Given the description of an element on the screen output the (x, y) to click on. 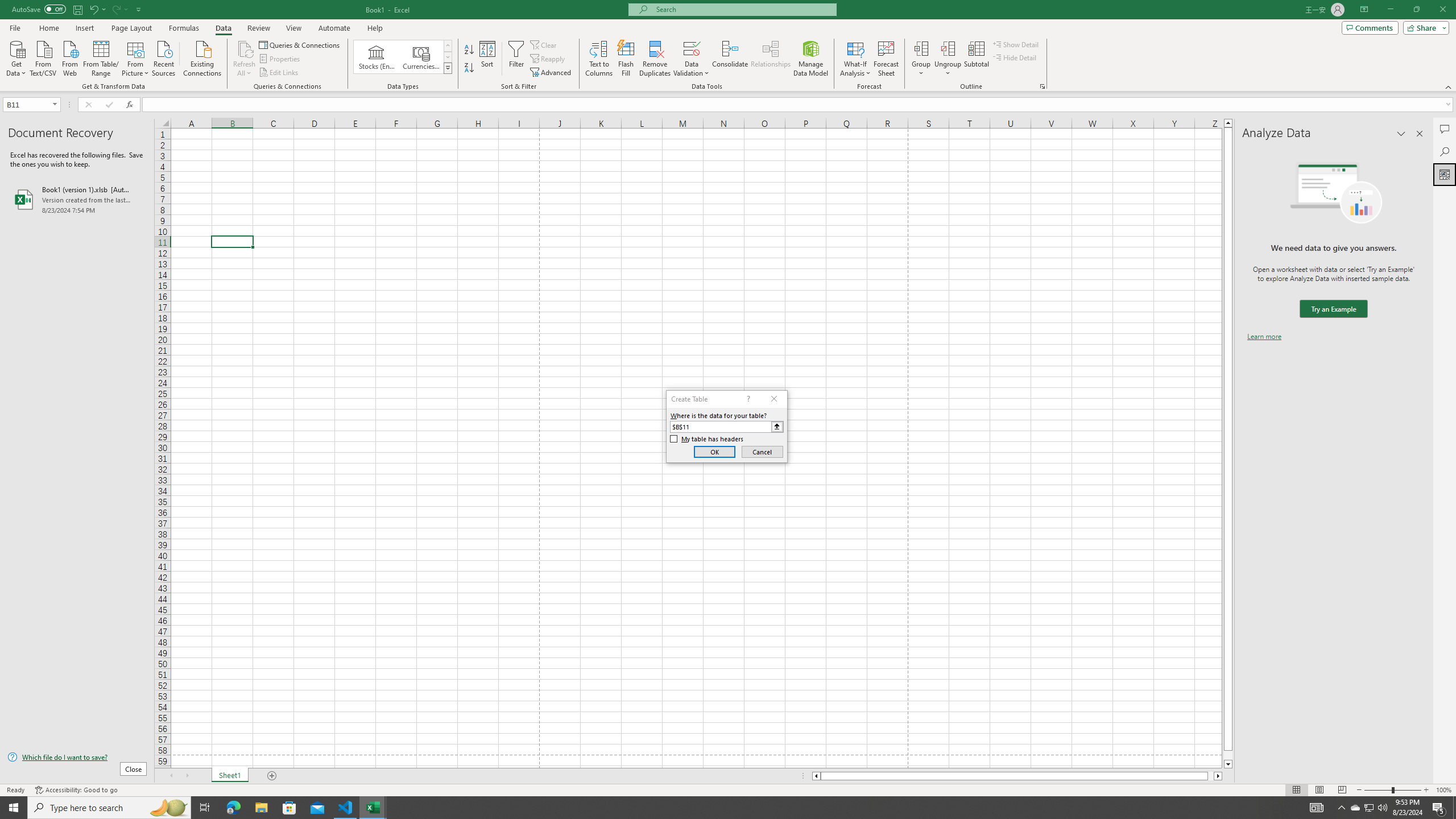
Home (48, 28)
Learn more (1264, 336)
Close pane (1419, 133)
Ungroup... (947, 48)
Data (223, 28)
Text to Columns... (598, 58)
Consolidate... (729, 58)
Minimize (1390, 9)
Line up (1228, 122)
Row Down (448, 56)
View (293, 28)
Share (1423, 27)
Microsoft search (742, 9)
Help (374, 28)
Book1 (version 1).xlsb  [AutoRecovered] (77, 199)
